Given the description of an element on the screen output the (x, y) to click on. 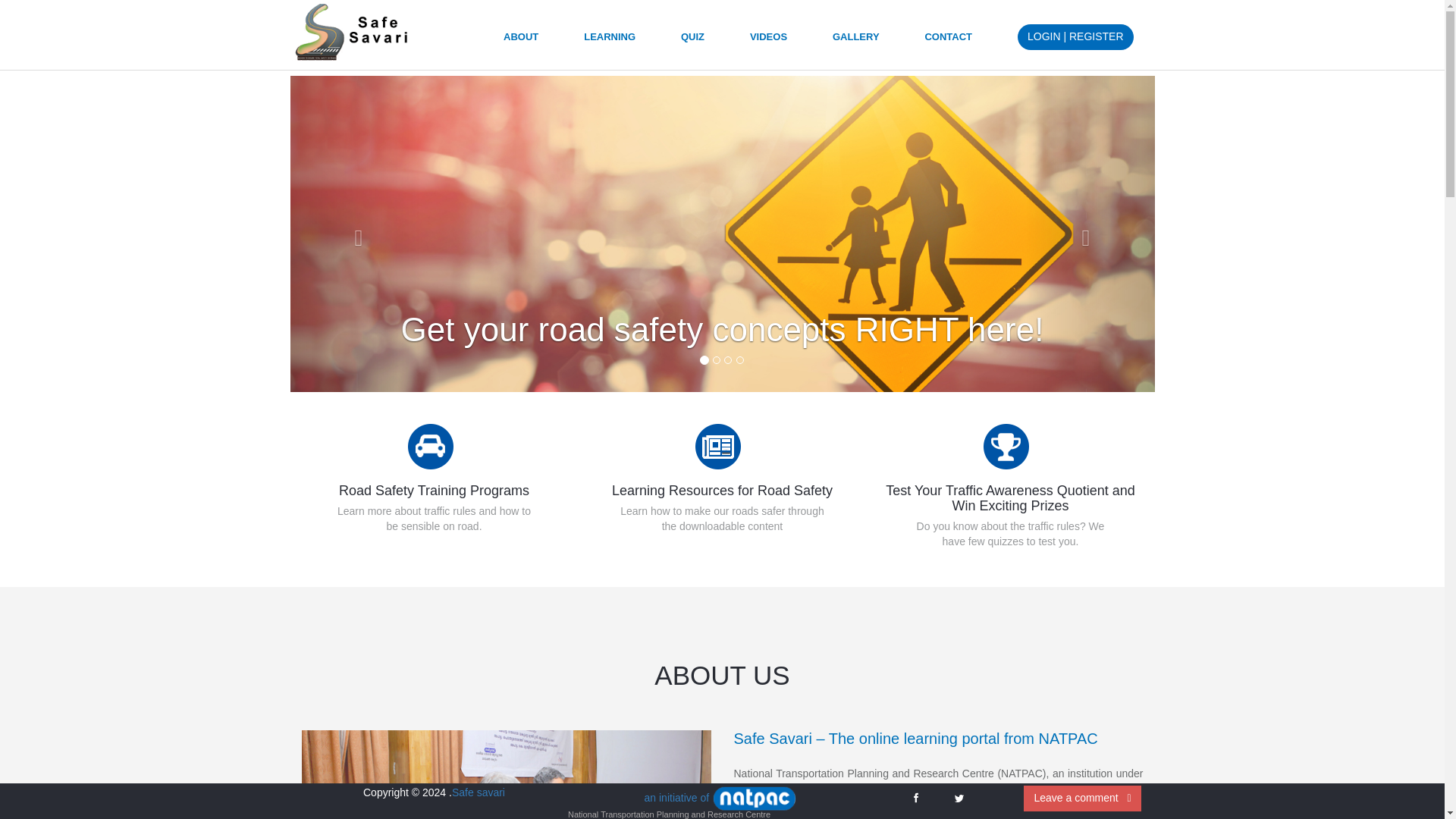
QUIZ (692, 42)
CONTACT (948, 42)
QUIZ (692, 42)
VIDEOS (768, 42)
LEARNING (608, 42)
GALLERY (855, 42)
LEARNING (608, 42)
CONTACT (948, 42)
ABOUT (520, 42)
Safe savari (478, 792)
